Given the description of an element on the screen output the (x, y) to click on. 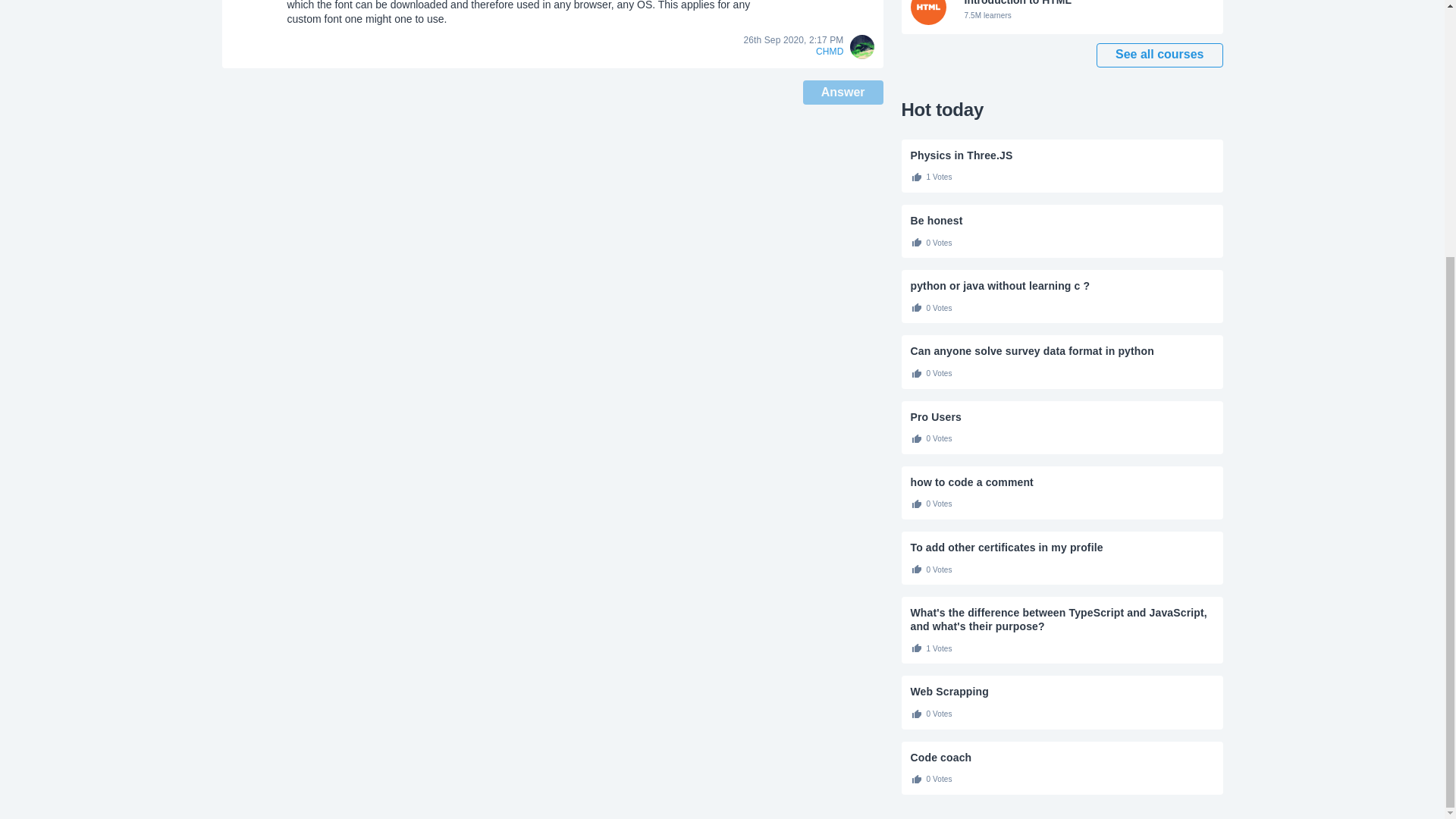
Be honest (1061, 220)
Code coach (1061, 757)
how to code a comment (1061, 481)
Pro Users (1061, 417)
Web Scrapping (1061, 691)
Can anyone solve survey data format in python (1062, 17)
python or java without learning c ? (1061, 350)
Answer (1061, 285)
Physics in Three.JS (843, 92)
To add other certificates in my profile (1061, 155)
Introduction to HTML (1061, 547)
See all courses (1062, 17)
